Given the description of an element on the screen output the (x, y) to click on. 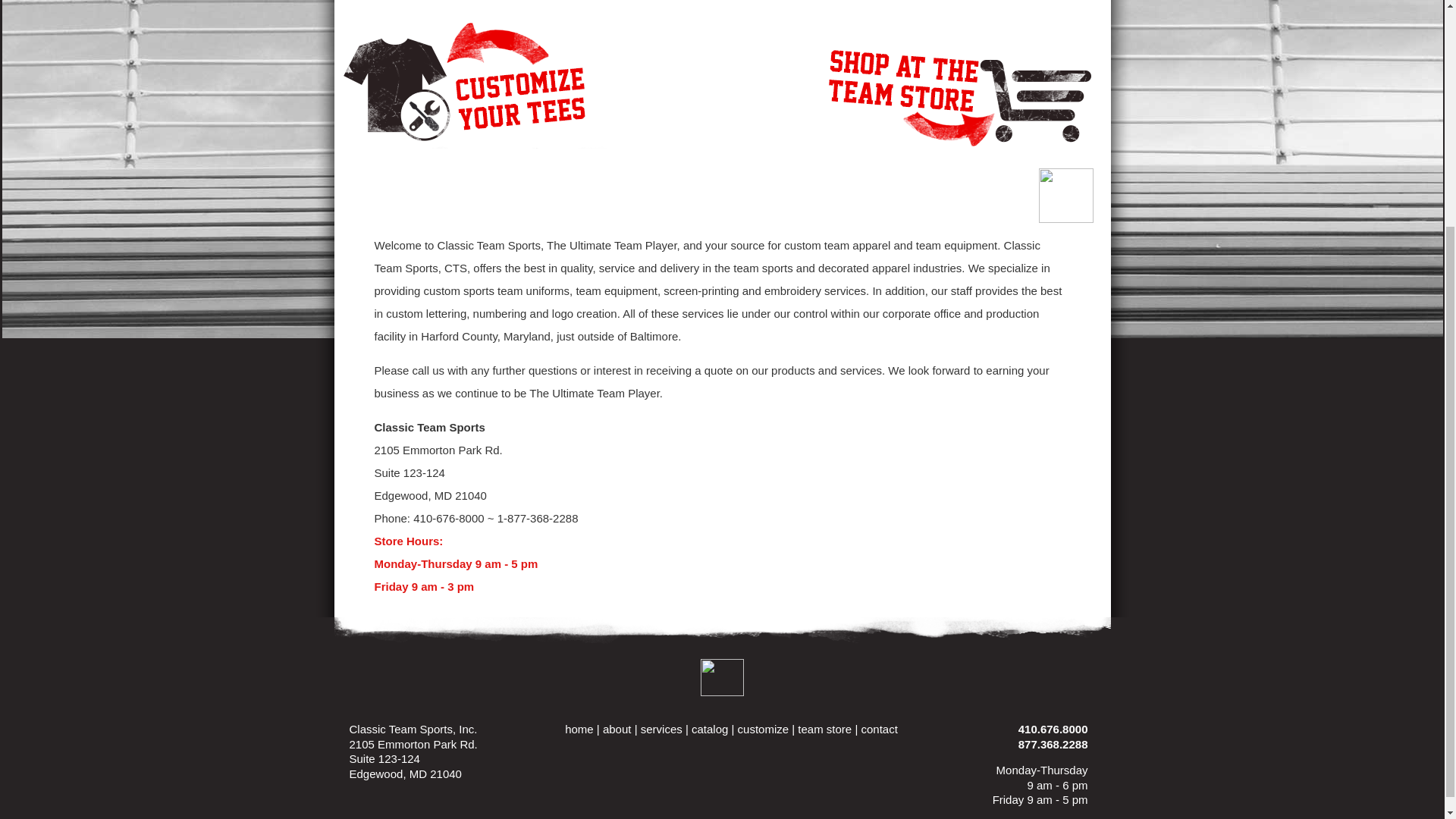
home (579, 728)
services (661, 728)
team store (824, 728)
contact (878, 728)
catalog (709, 728)
about (616, 728)
customize (763, 728)
